Given the description of an element on the screen output the (x, y) to click on. 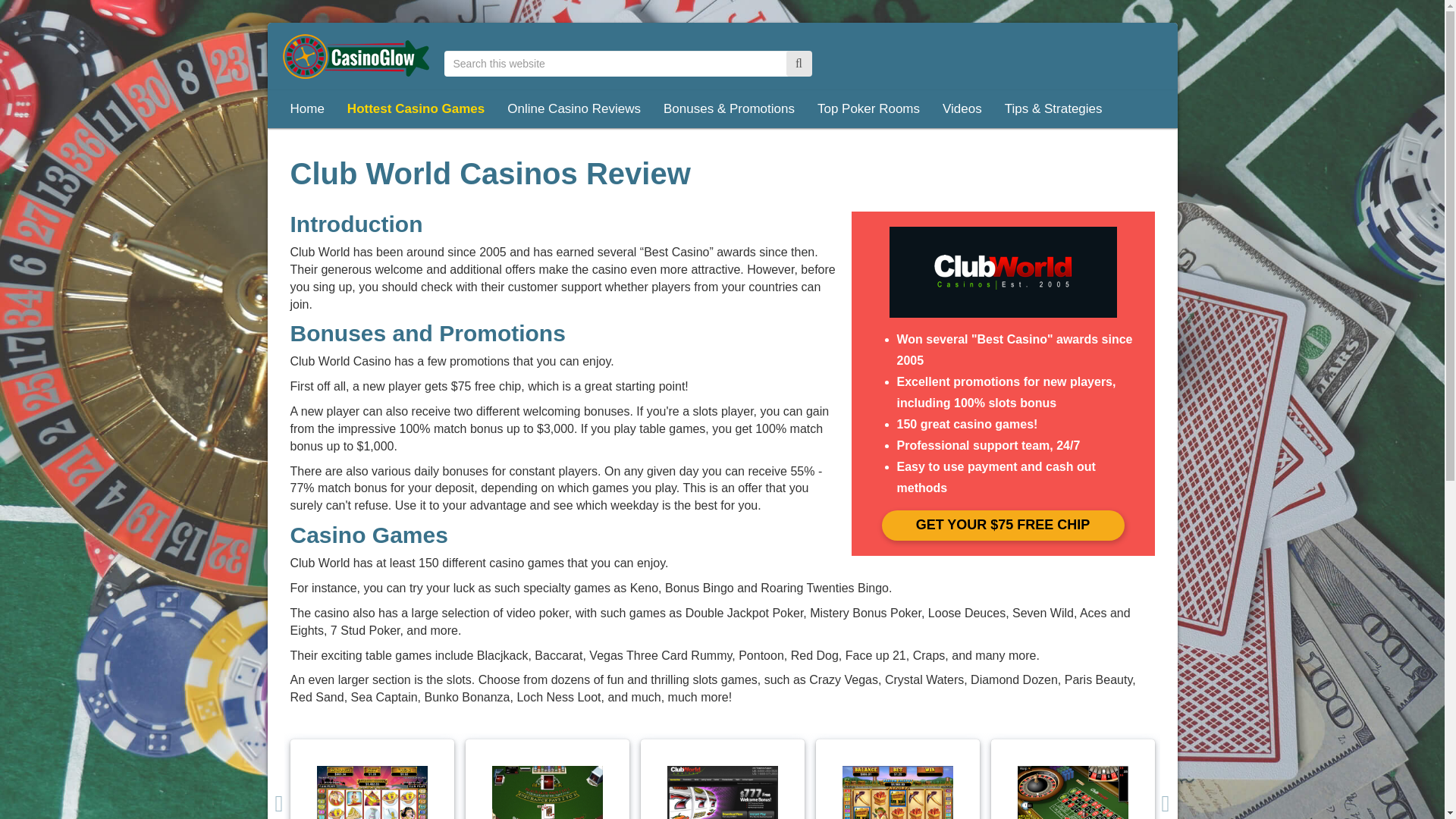
Home (307, 108)
Club World Casinos Review (1002, 271)
Videos (961, 108)
Top Poker Rooms (868, 108)
Hottest Casino Games (416, 108)
CasinoGlow.com (355, 56)
Online Casino Reviews (574, 108)
